Given the description of an element on the screen output the (x, y) to click on. 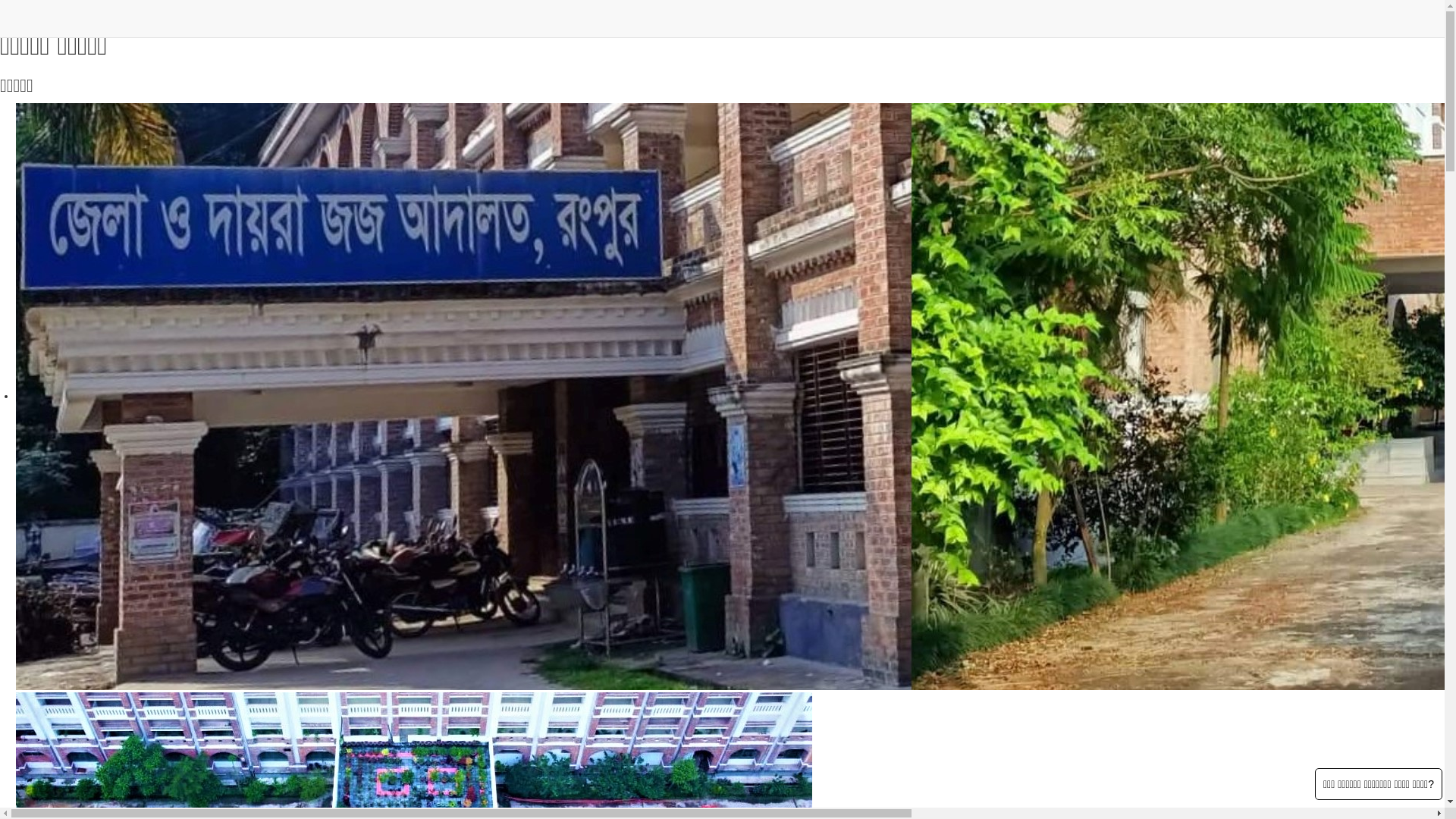
Skip to main content Element type: text (48, 7)
